Given the description of an element on the screen output the (x, y) to click on. 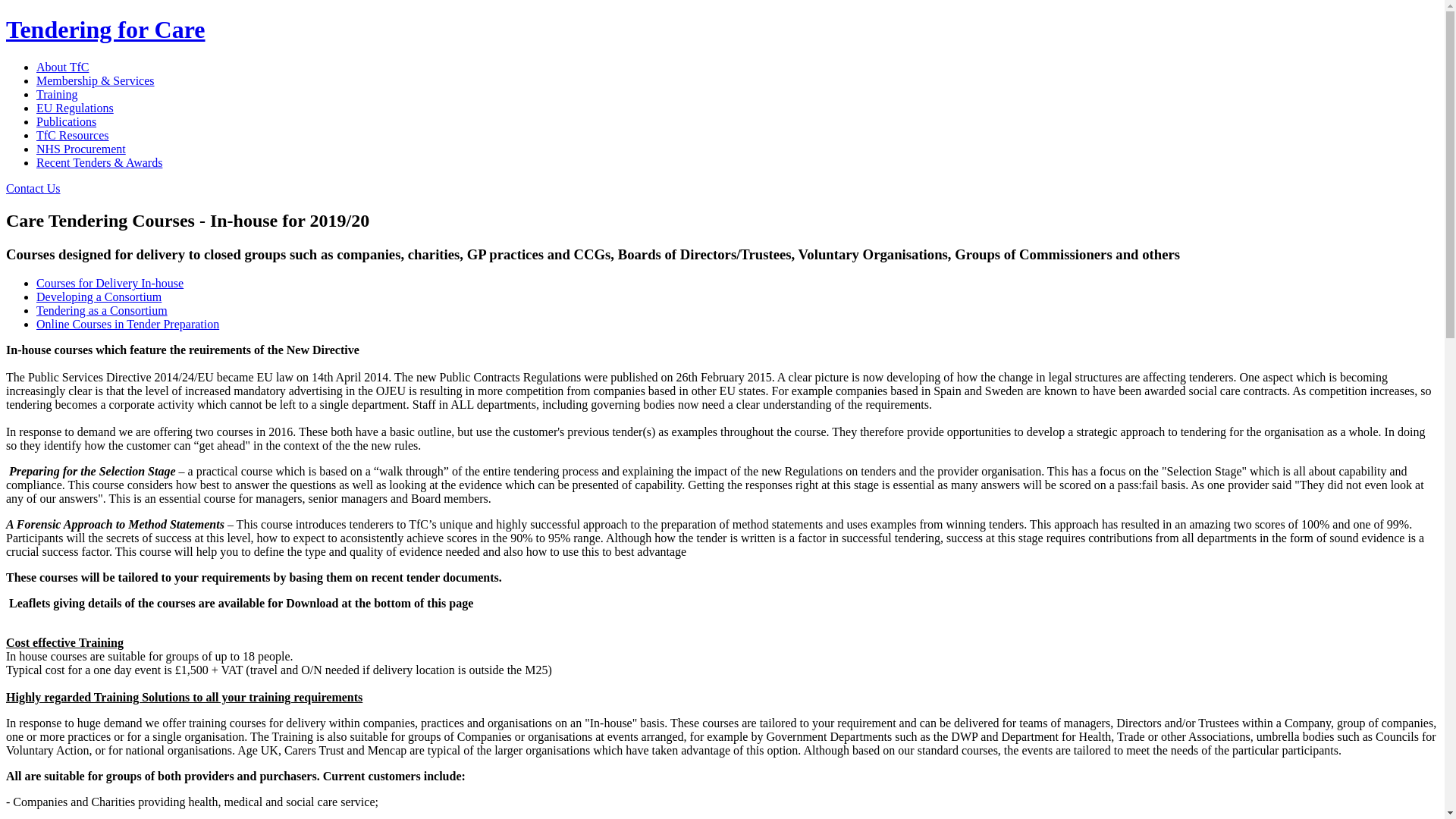
Courses for Delivery In-house (109, 282)
EU Regulations (74, 107)
TfC Resources (72, 134)
Tendering for Care (105, 29)
Tendering as a Consortium (101, 309)
Developing a Consortium (98, 296)
Contact Us (33, 187)
NHS Procurement (80, 148)
About TfC (62, 66)
Training (57, 93)
Online Courses in Tender Preparation (127, 323)
Publications (66, 121)
